Given the description of an element on the screen output the (x, y) to click on. 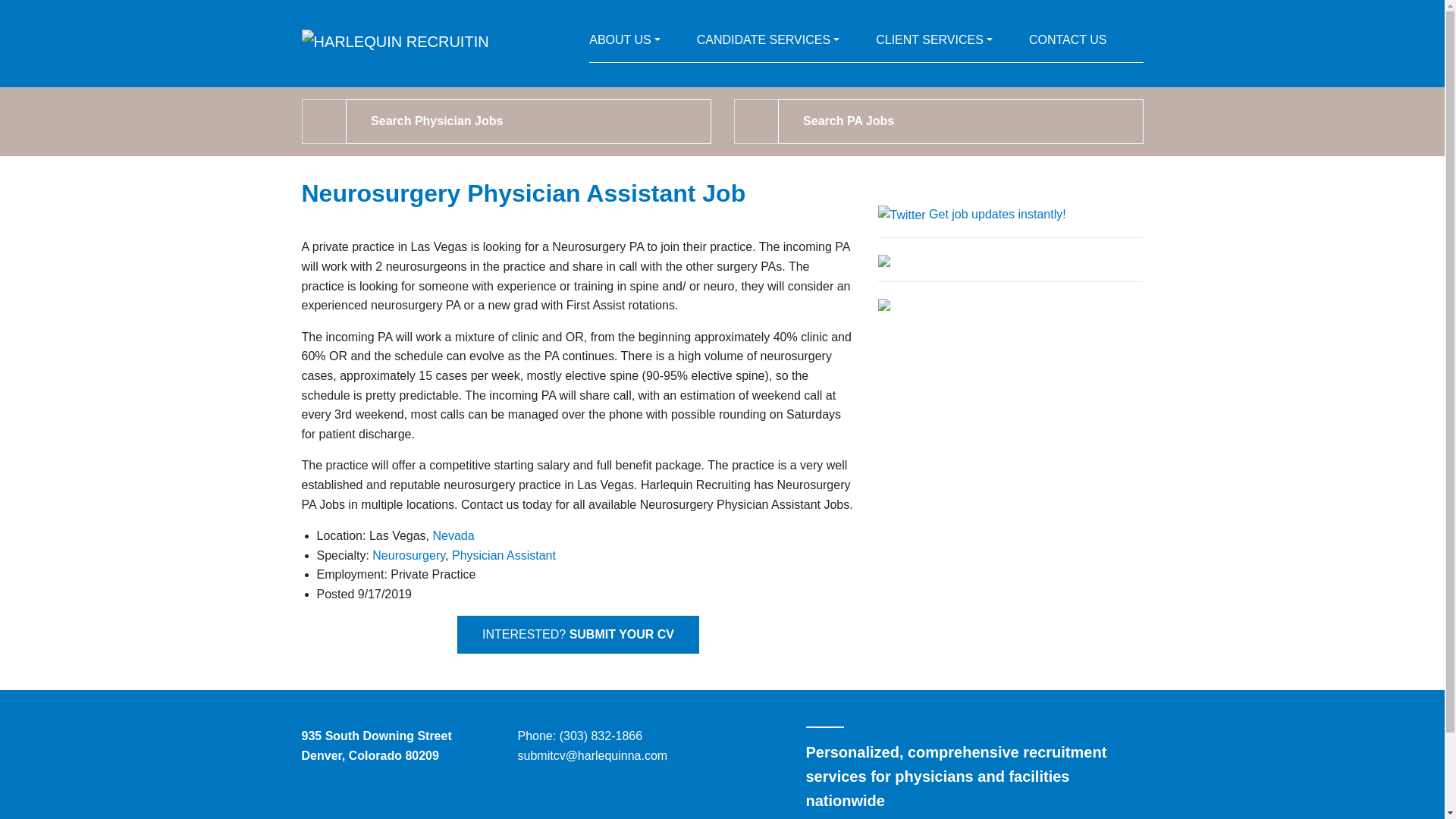
SEARCH (755, 121)
Physician Assistant (503, 554)
icon-hospital-o (934, 43)
SEARCH (324, 121)
ABOUT US (625, 43)
Nevada (453, 535)
Get job updates instantly! (971, 214)
icon-lock (768, 43)
icon-phone (1067, 43)
icon-user (625, 43)
